Given the description of an element on the screen output the (x, y) to click on. 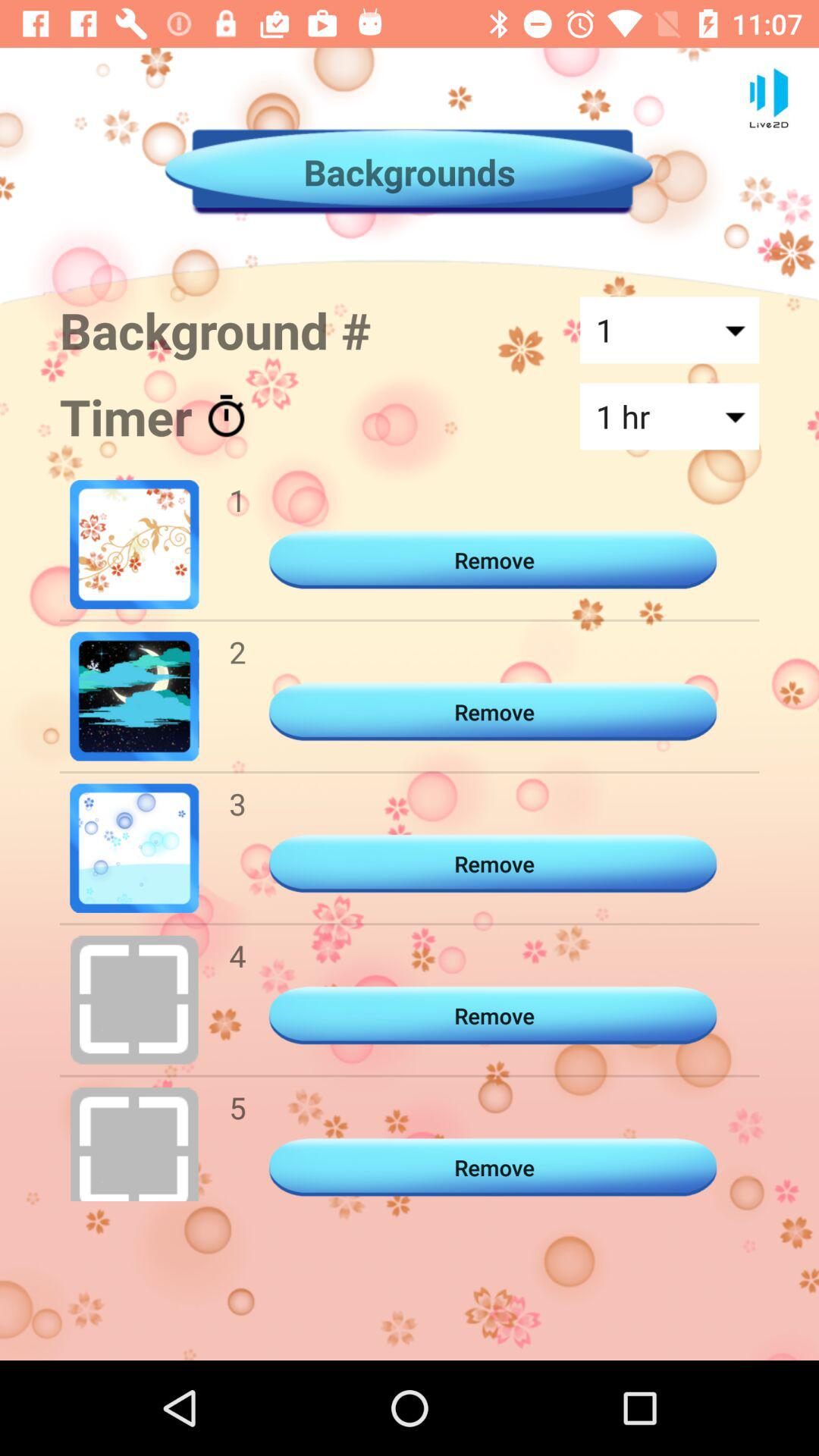
turn off the item next to the remove (237, 1107)
